Given the description of an element on the screen output the (x, y) to click on. 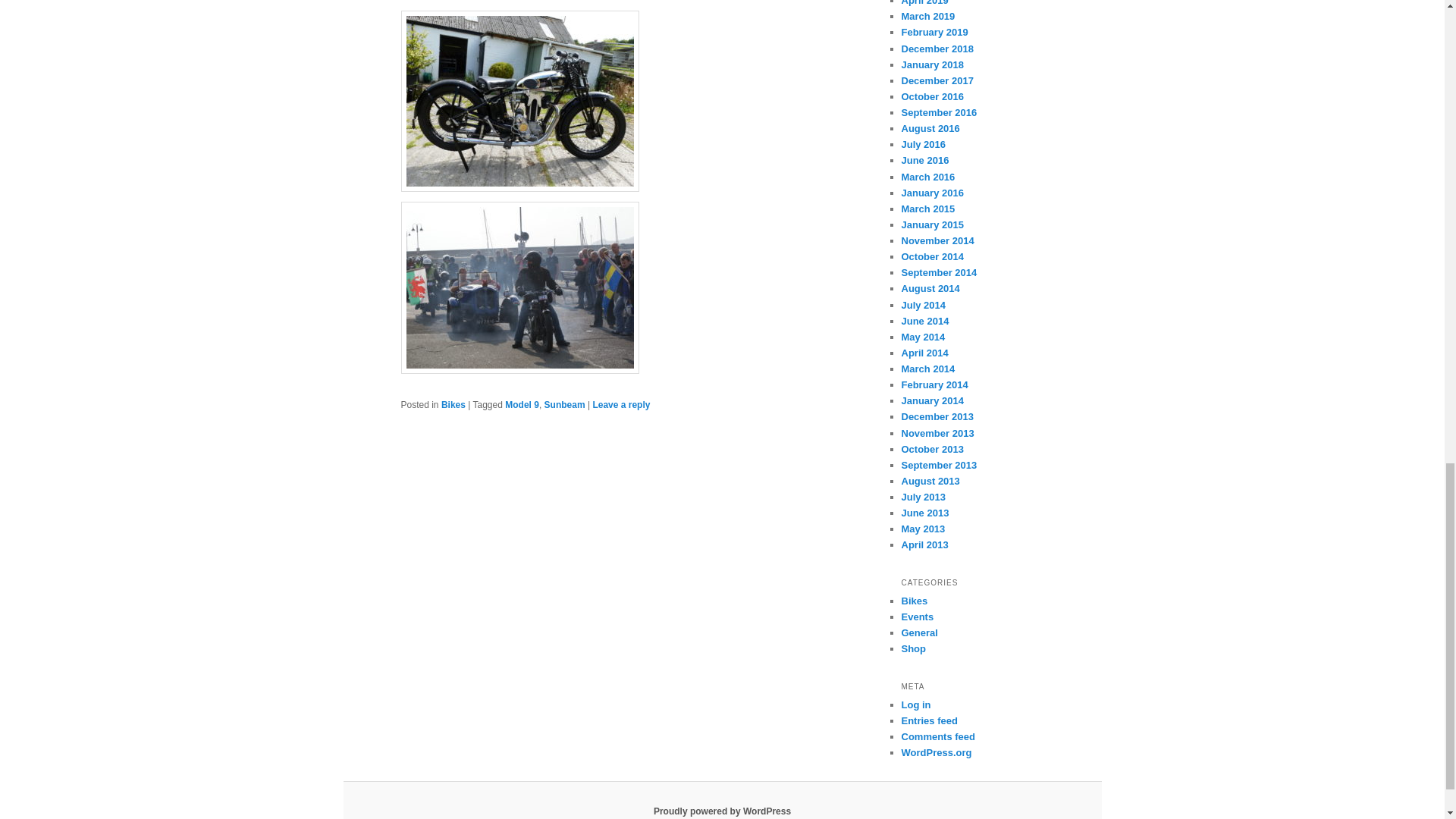
March 2019 (928, 16)
December 2018 (936, 48)
April 2019 (924, 2)
Bikes (453, 404)
Sunbeam (564, 404)
Leave a reply (620, 404)
Model 9 (521, 404)
January 2018 (931, 64)
Semantic Personal Publishing Platform (721, 810)
February 2019 (934, 31)
